Given the description of an element on the screen output the (x, y) to click on. 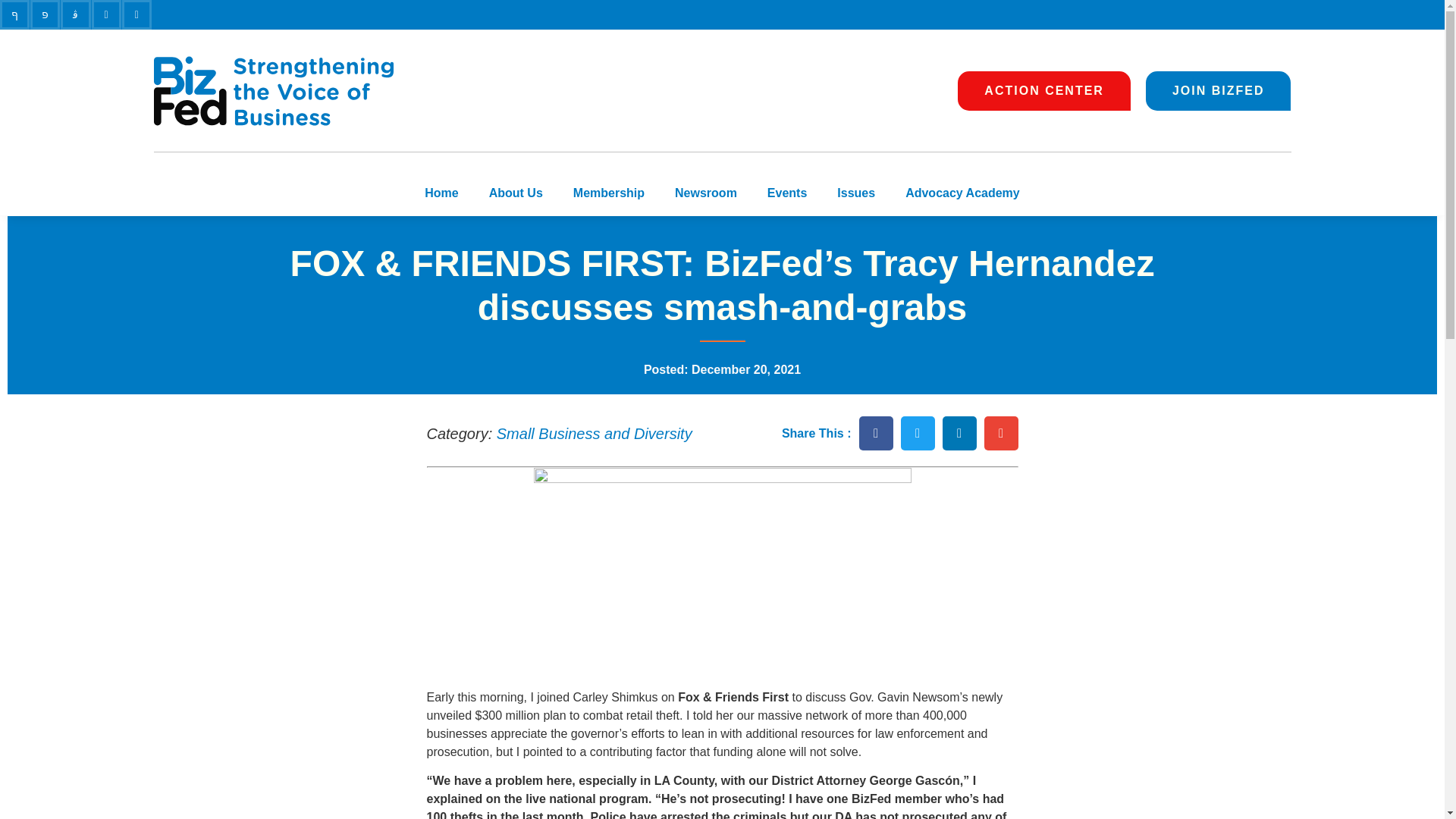
Home (441, 193)
JOIN BIZFED (1218, 90)
ACTION CENTER (1044, 90)
About Us (515, 193)
Membership (608, 193)
